Given the description of an element on the screen output the (x, y) to click on. 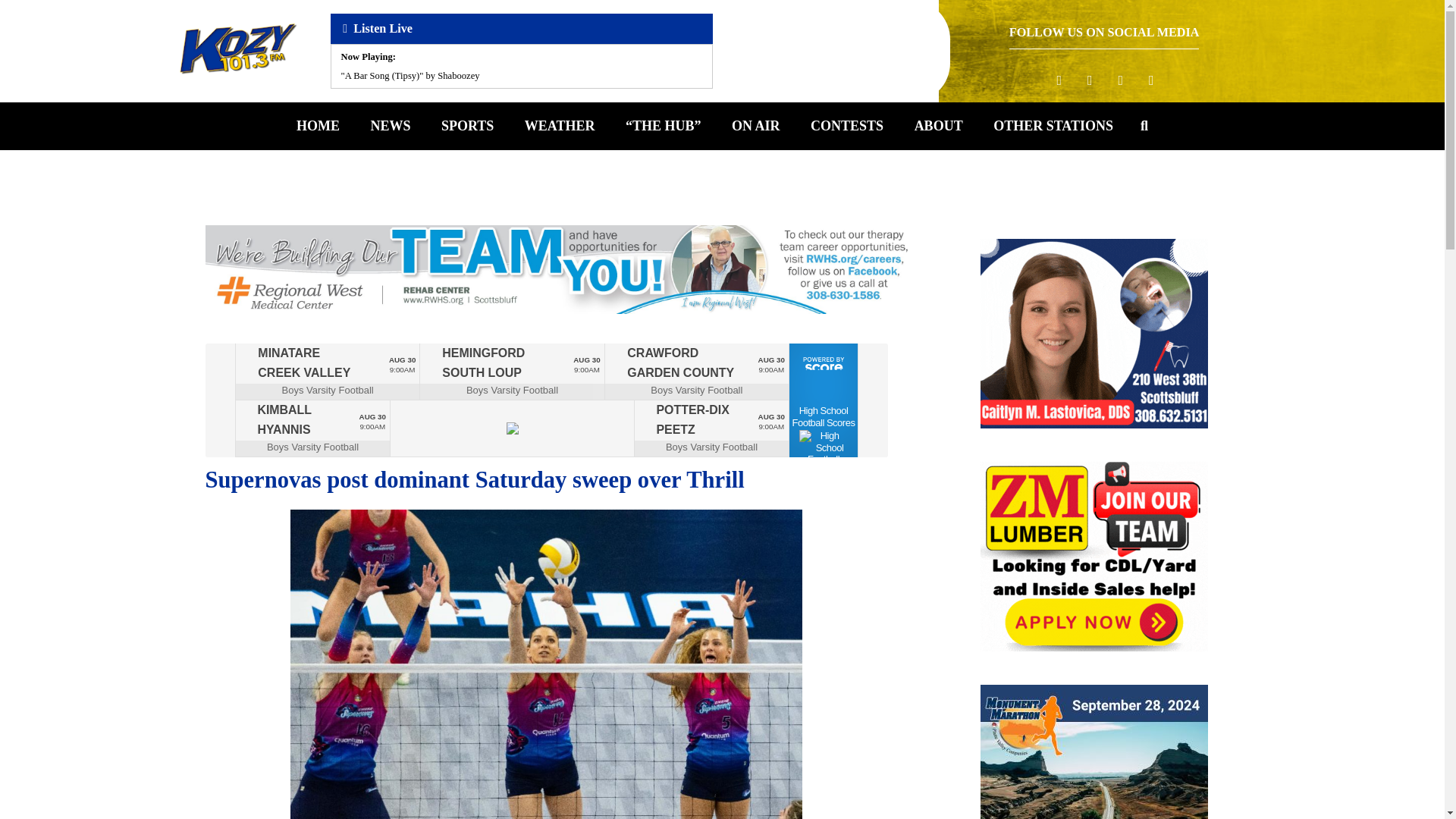
WEATHER (560, 125)
SPORTS (466, 125)
HOME (317, 125)
Realtime sports scoreboard widget (545, 400)
Listen Live (521, 28)
NEWS (389, 125)
